Given the description of an element on the screen output the (x, y) to click on. 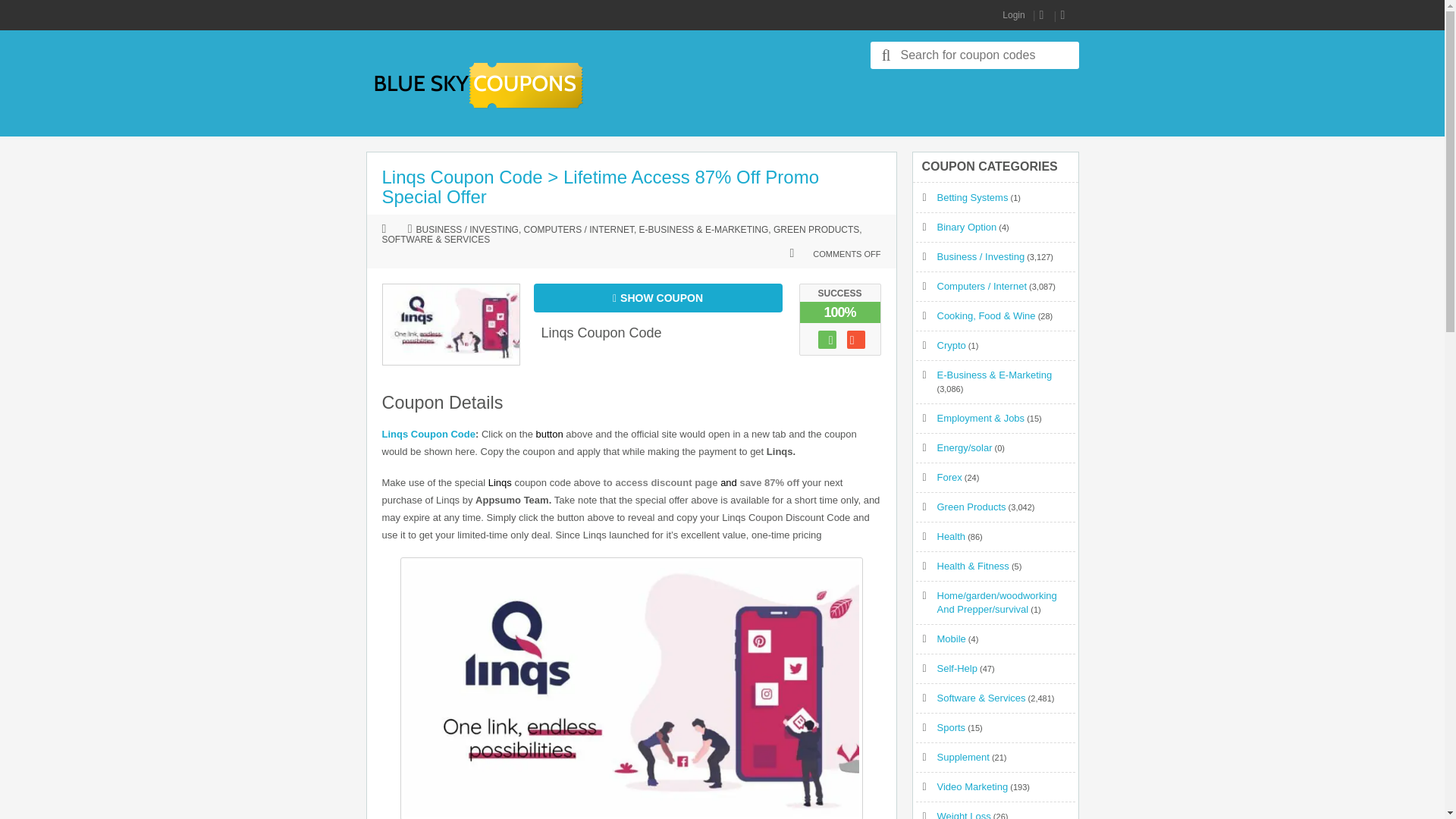
Linqs Coupon Code (428, 433)
Linqs Coupon Code (601, 332)
Crypto (951, 345)
Health (951, 536)
Betting Systems (973, 197)
Forex (949, 477)
Binary Option (967, 226)
Login (1014, 14)
SHOW COUPON (658, 297)
Green Products (971, 506)
GREEN PRODUCTS (816, 230)
